Given the description of an element on the screen output the (x, y) to click on. 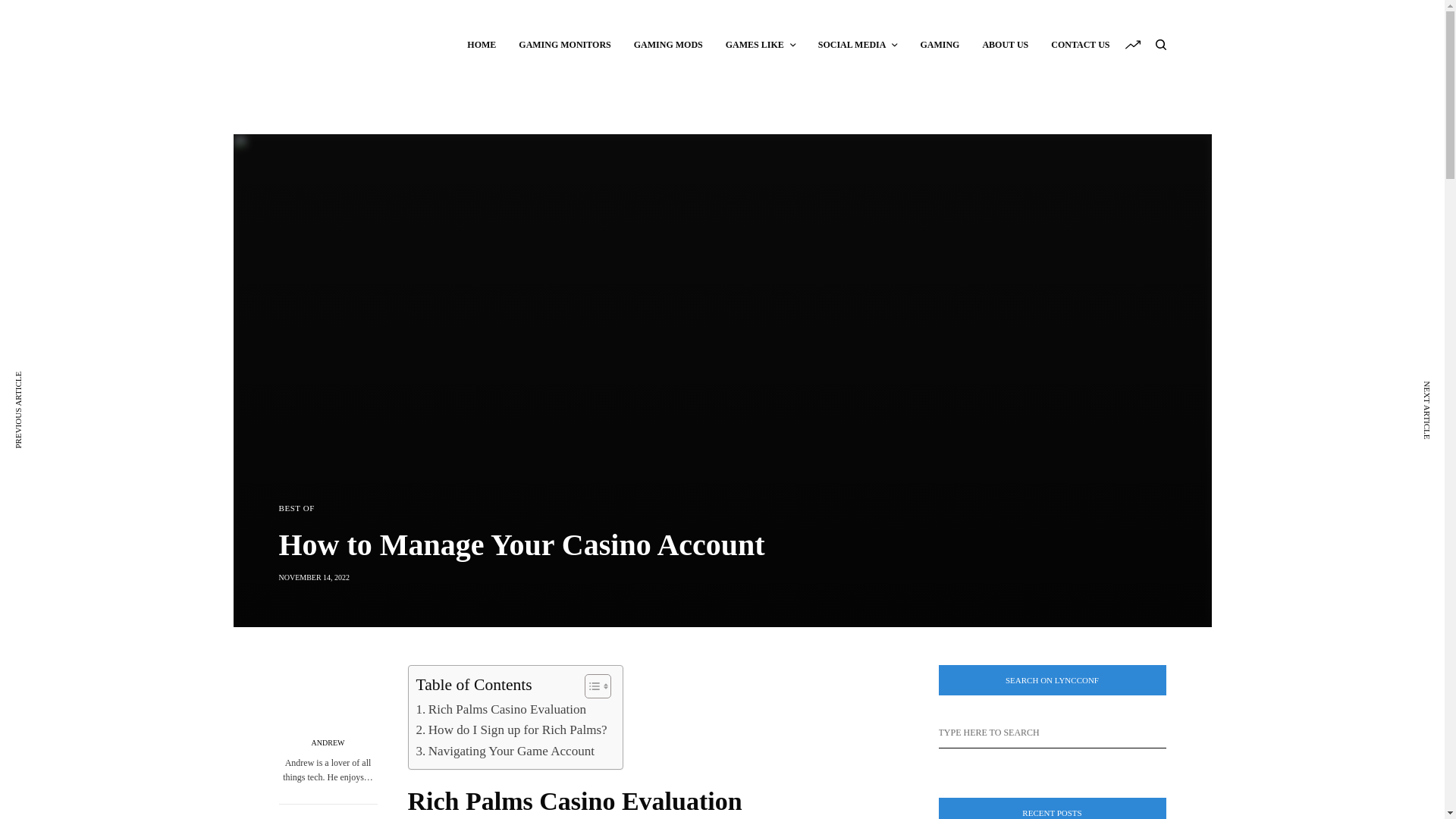
Navigating Your Game Account (504, 751)
Navigating Your Game Account (504, 751)
GAMING (939, 44)
BEST OF (296, 508)
ABOUT US (1004, 44)
ANDREW (328, 742)
HOME (481, 44)
How do I Sign up for Rich Palms? (510, 729)
CONTACT US (1080, 44)
LyncConf (360, 44)
GAMING MONITORS (564, 44)
SOCIAL MEDIA (858, 44)
GAMING MODS (668, 44)
Rich Palms Casino Evaluation (500, 709)
GAMES LIKE (759, 44)
